Given the description of an element on the screen output the (x, y) to click on. 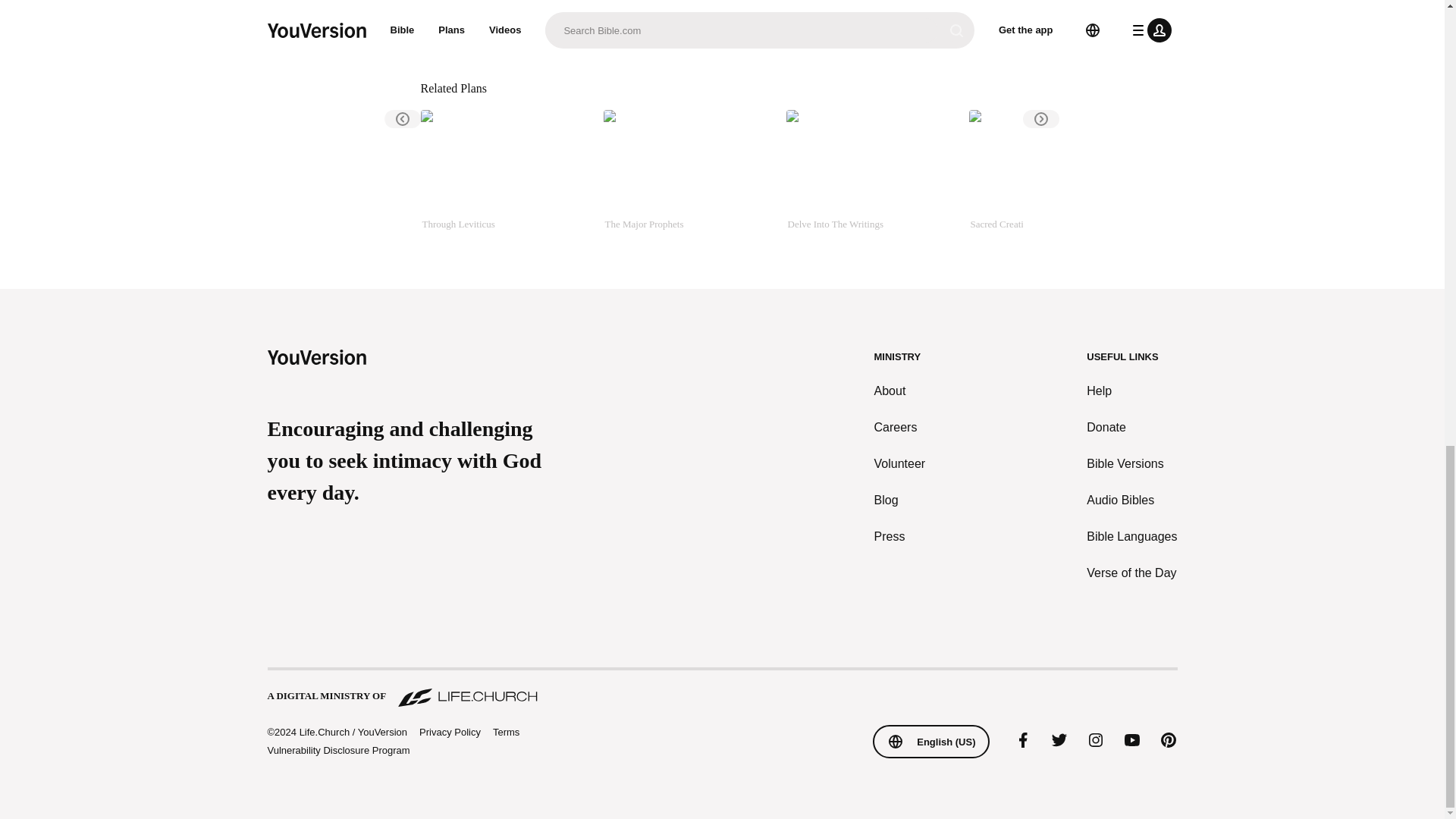
About (900, 391)
Careers (900, 427)
Volunteer (900, 464)
The Major Prophets (689, 177)
Donate (1131, 427)
Blog (900, 500)
Audio Bibles (1131, 500)
About The Publisher (514, 31)
Through Leviticus (505, 177)
A DIGITAL MINISTRY OF (721, 688)
Vulnerability Disclosure Program (337, 749)
Bible Languages (1131, 536)
Terms (506, 731)
Privacy Policy (449, 732)
Bible Versions (1131, 464)
